Given the description of an element on the screen output the (x, y) to click on. 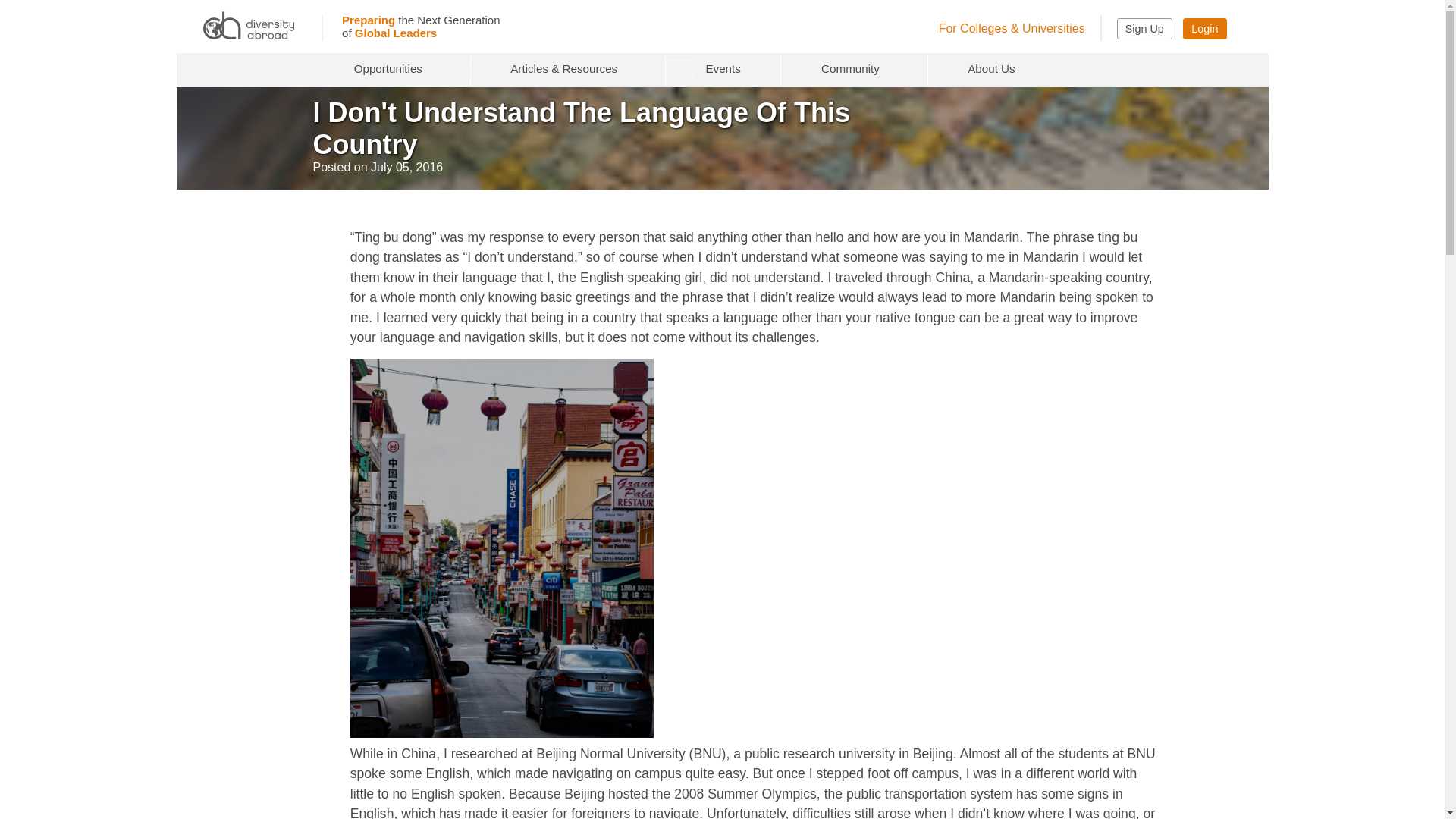
Sign Up (1144, 28)
Community (853, 68)
About Us (995, 68)
Login (1203, 28)
Opportunities (392, 68)
Events (722, 68)
